Given the description of an element on the screen output the (x, y) to click on. 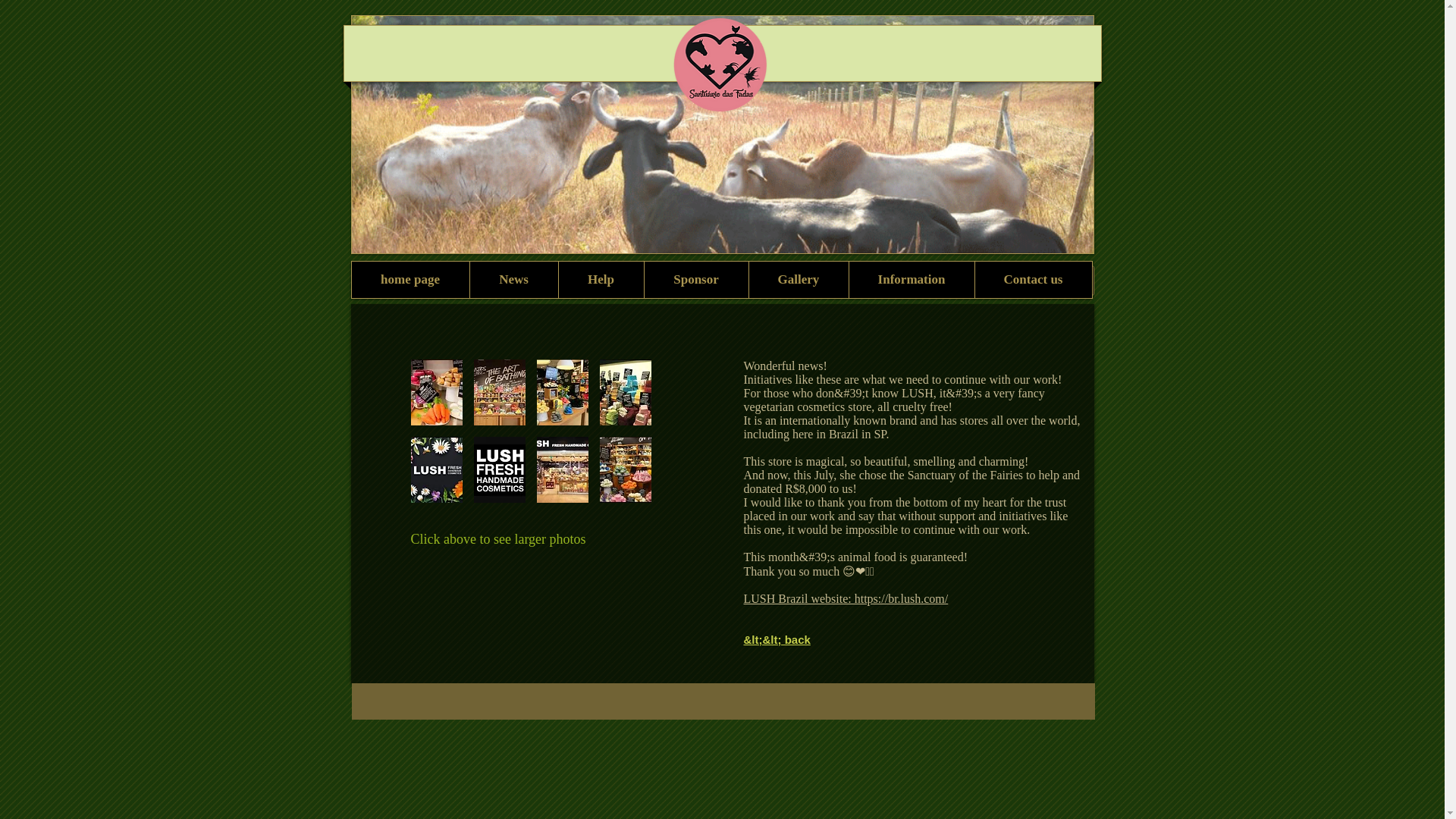
Help Us (615, 280)
Information (932, 280)
Sponsorship (721, 280)
Contact us (1032, 279)
Help (600, 279)
gallery (827, 280)
Information (910, 279)
News (512, 279)
Sponsor (695, 279)
Home (404, 280)
